Given the description of an element on the screen output the (x, y) to click on. 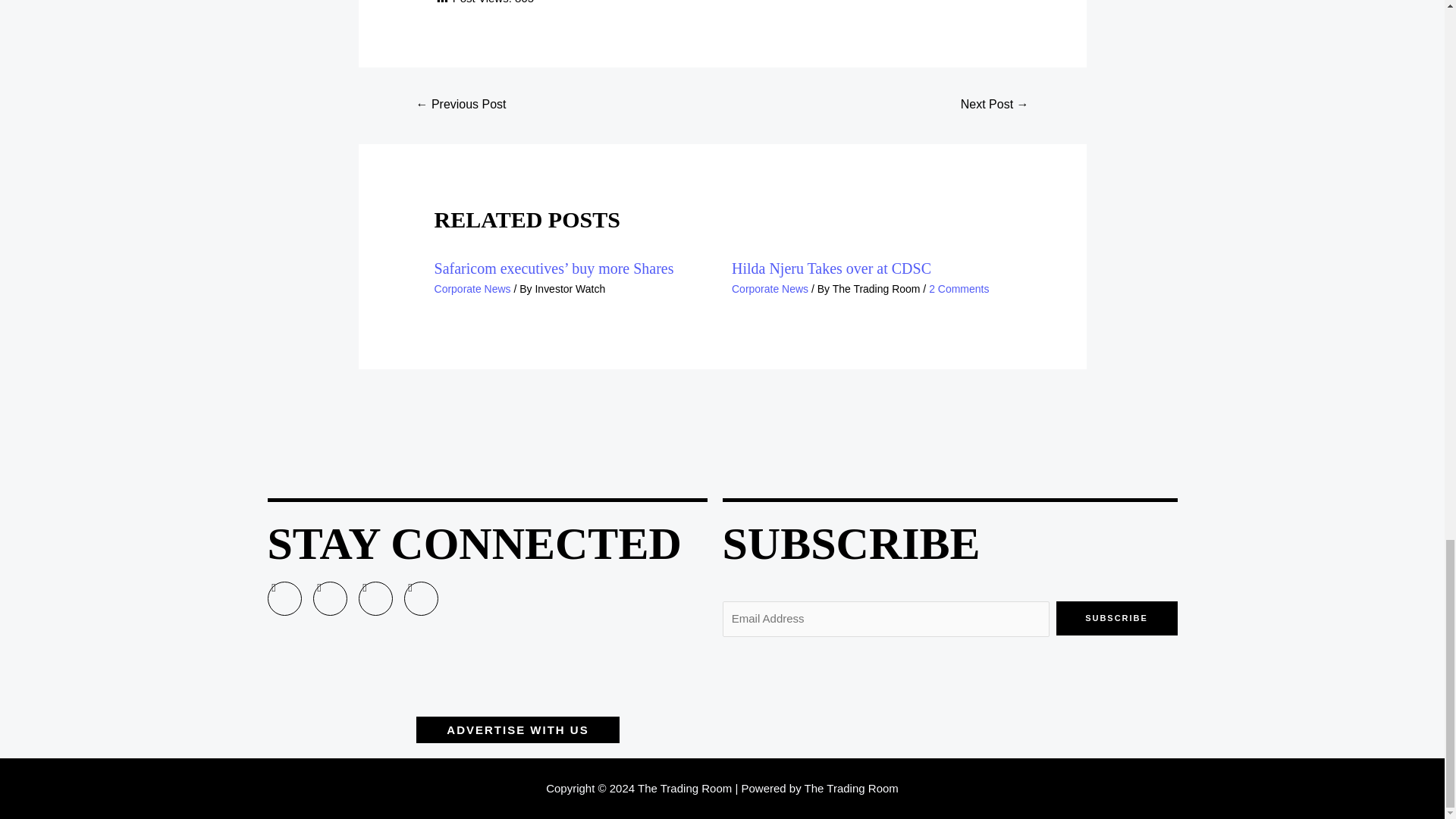
View all posts by The Trading Room (877, 288)
2 Comments (958, 288)
The Trading Room (877, 288)
Hilda Njeru Takes over at CDSC (831, 268)
Investor Watch (569, 288)
View all posts by Investor Watch (569, 288)
Corporate News (472, 288)
Corporate News (770, 288)
